Given the description of an element on the screen output the (x, y) to click on. 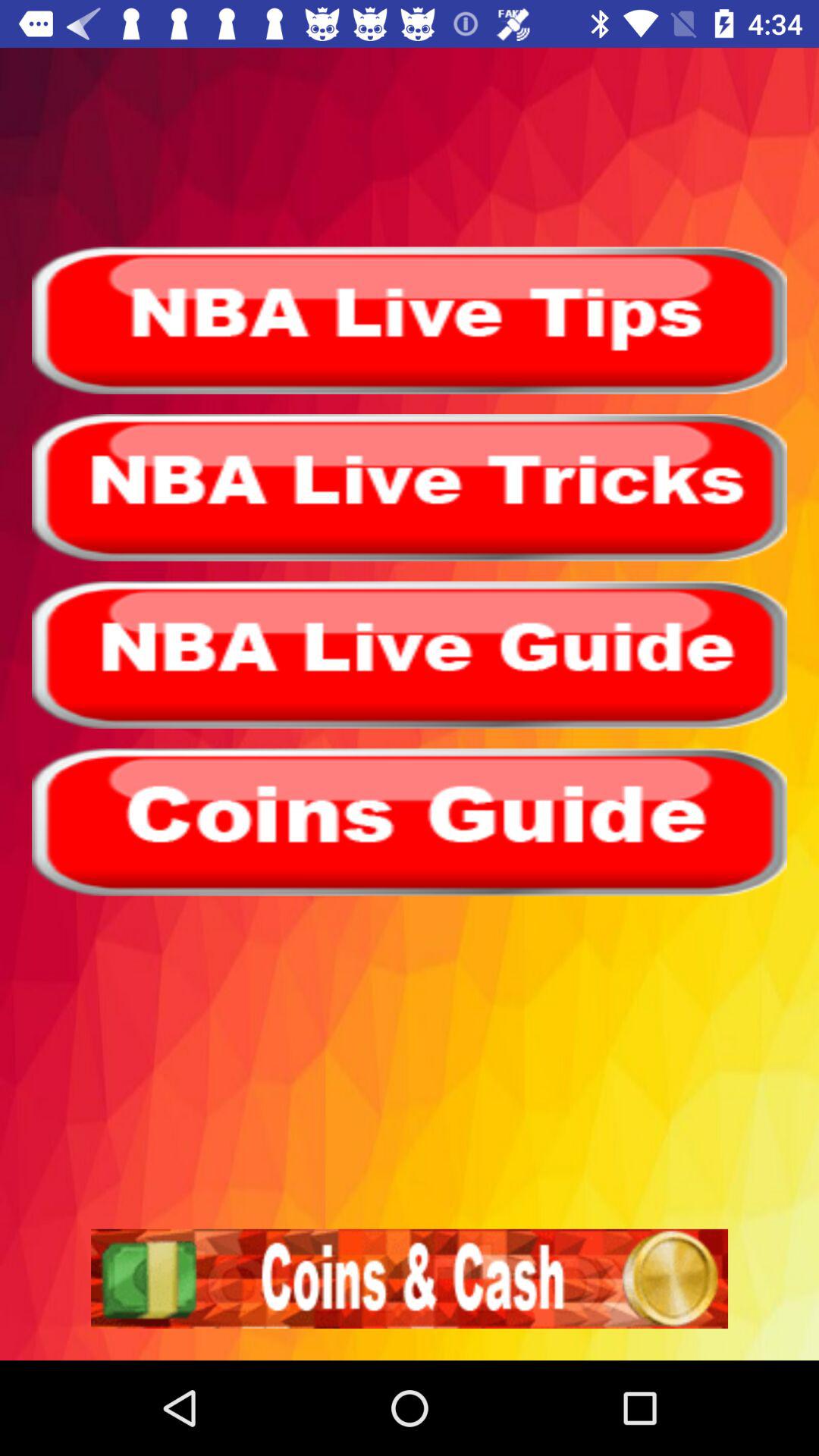
click for nba live tricks (409, 487)
